Given the description of an element on the screen output the (x, y) to click on. 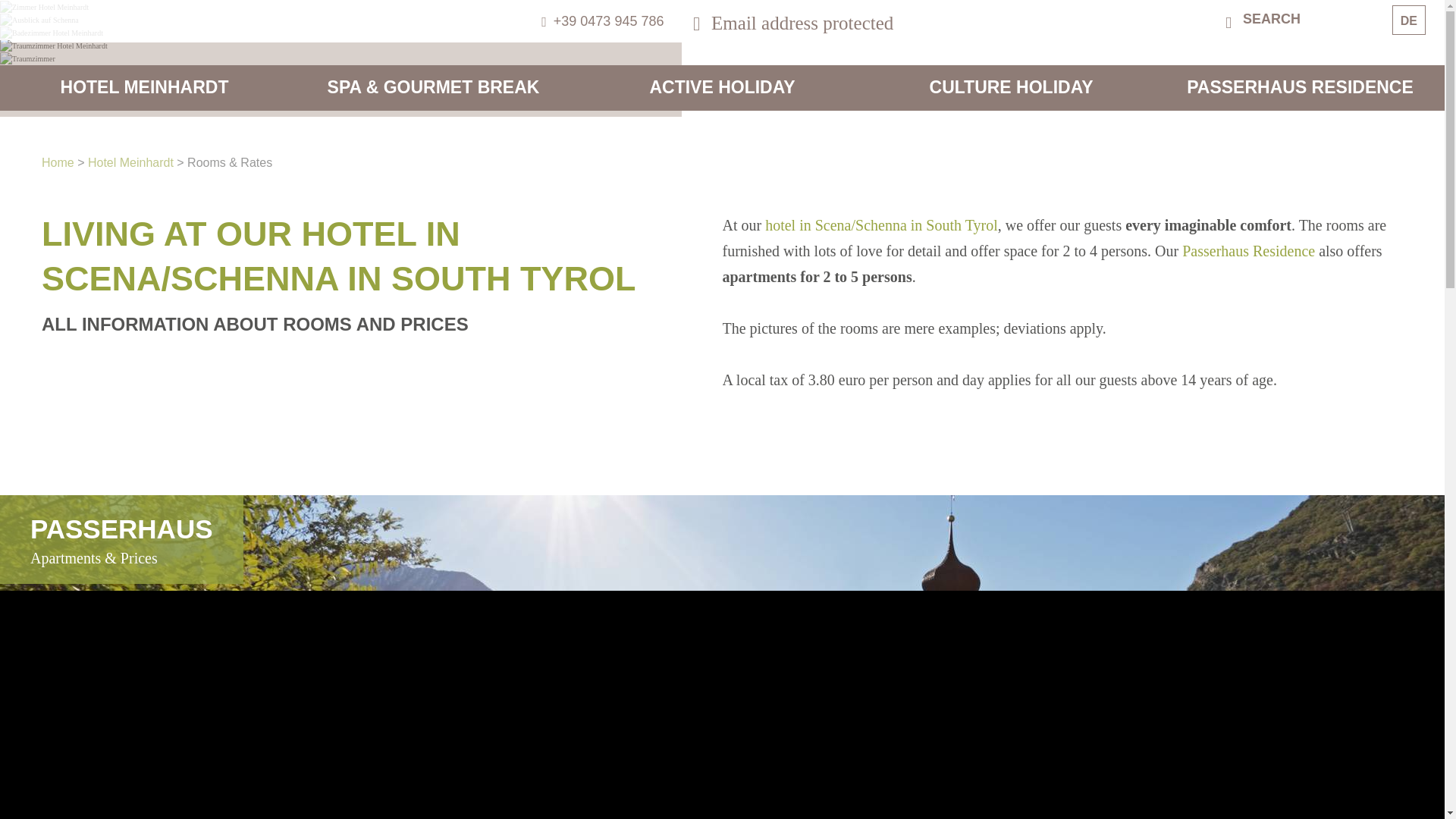
Traumzimmer (27, 58)
CULTURE HOLIDAY (1011, 87)
Best price guarantee (1270, 255)
Phone (615, 20)
Badezimmer Hotel Meinhardt (51, 32)
ACTIVE HOLIDAY (721, 87)
Best price guarantee (1270, 174)
HOTEL MEINHARDT (144, 87)
Traumzimmer Hotel Meinhardt (53, 45)
Hotel Meinhardt (144, 87)
DE (1408, 20)
Zimmer Hotel Meinhardt (44, 6)
Ausblick auf Schenna (39, 19)
